Given the description of an element on the screen output the (x, y) to click on. 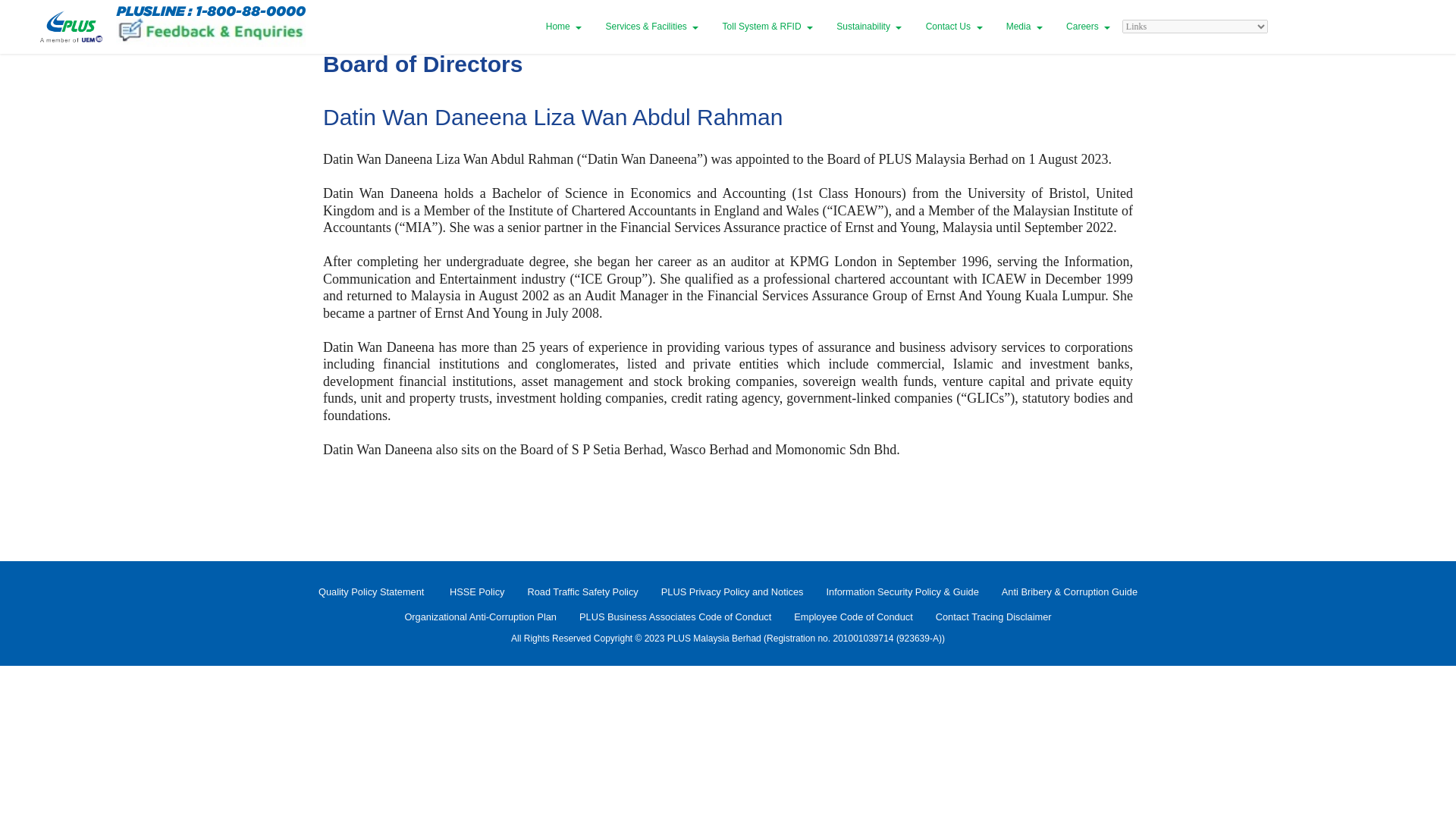
Home (564, 26)
